Given the description of an element on the screen output the (x, y) to click on. 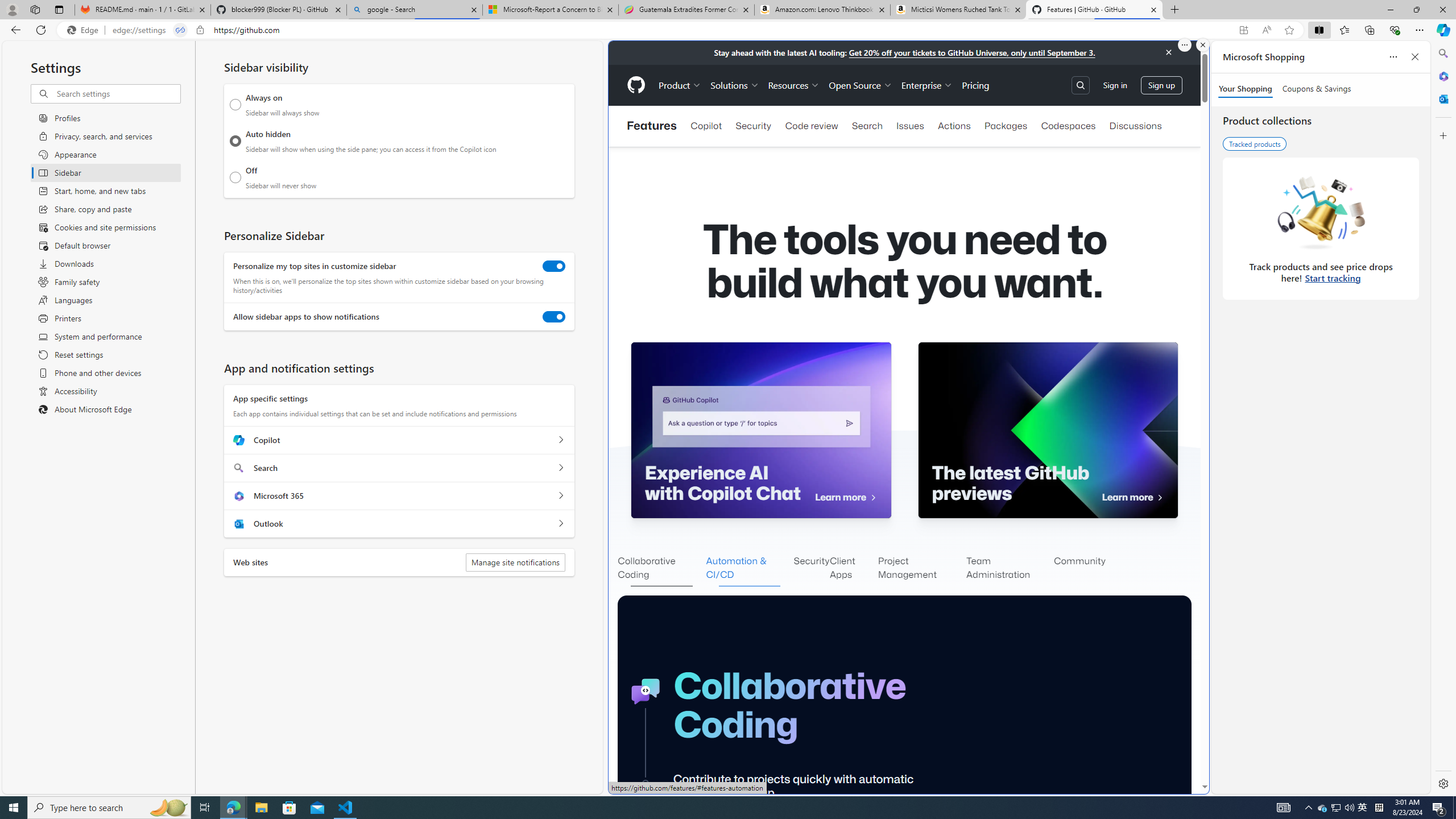
Pricing (975, 84)
Open Source (860, 84)
Issues (910, 125)
Tabs in split screen (180, 29)
Copilot (560, 439)
